Given the description of an element on the screen output the (x, y) to click on. 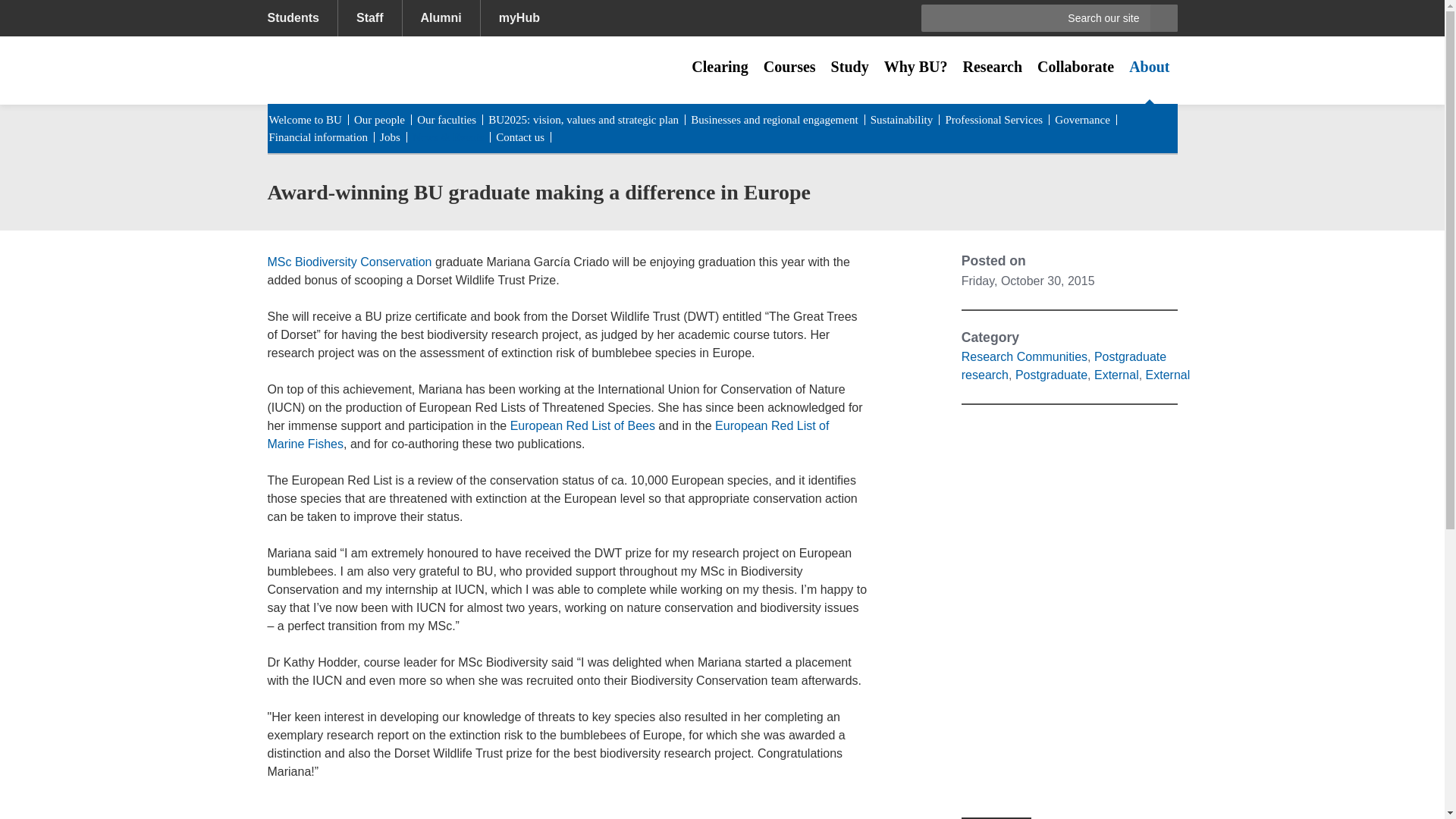
Clearing (719, 66)
Students (301, 18)
Staff (369, 18)
Alumni (440, 18)
Enter the terms you wish to search for. (1049, 17)
Courses (789, 66)
Search (1163, 17)
Skip to main content (66, 11)
Research (992, 66)
Search (1163, 17)
